Given the description of an element on the screen output the (x, y) to click on. 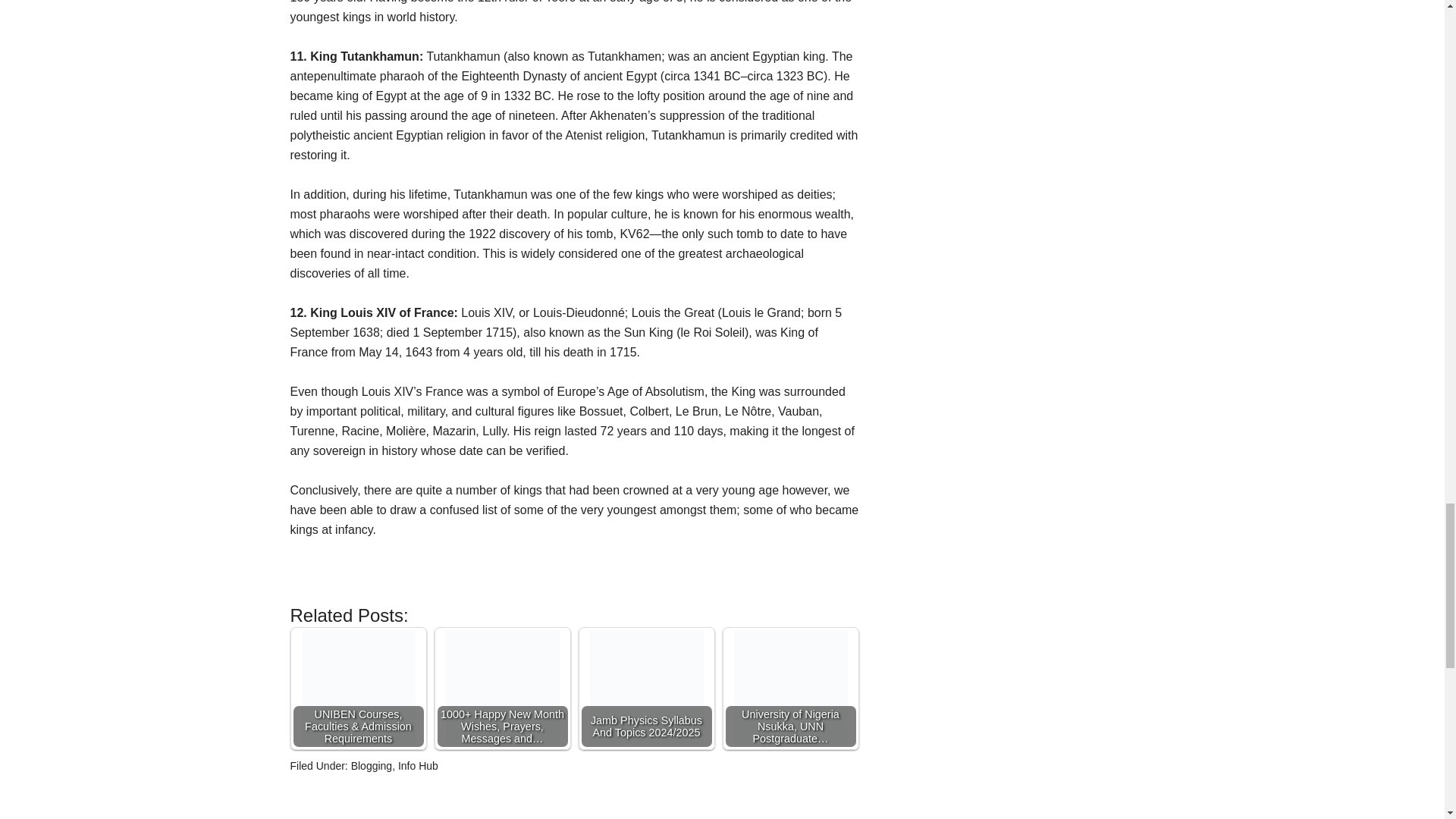
Blogging (371, 766)
Info Hub (417, 766)
